Given the description of an element on the screen output the (x, y) to click on. 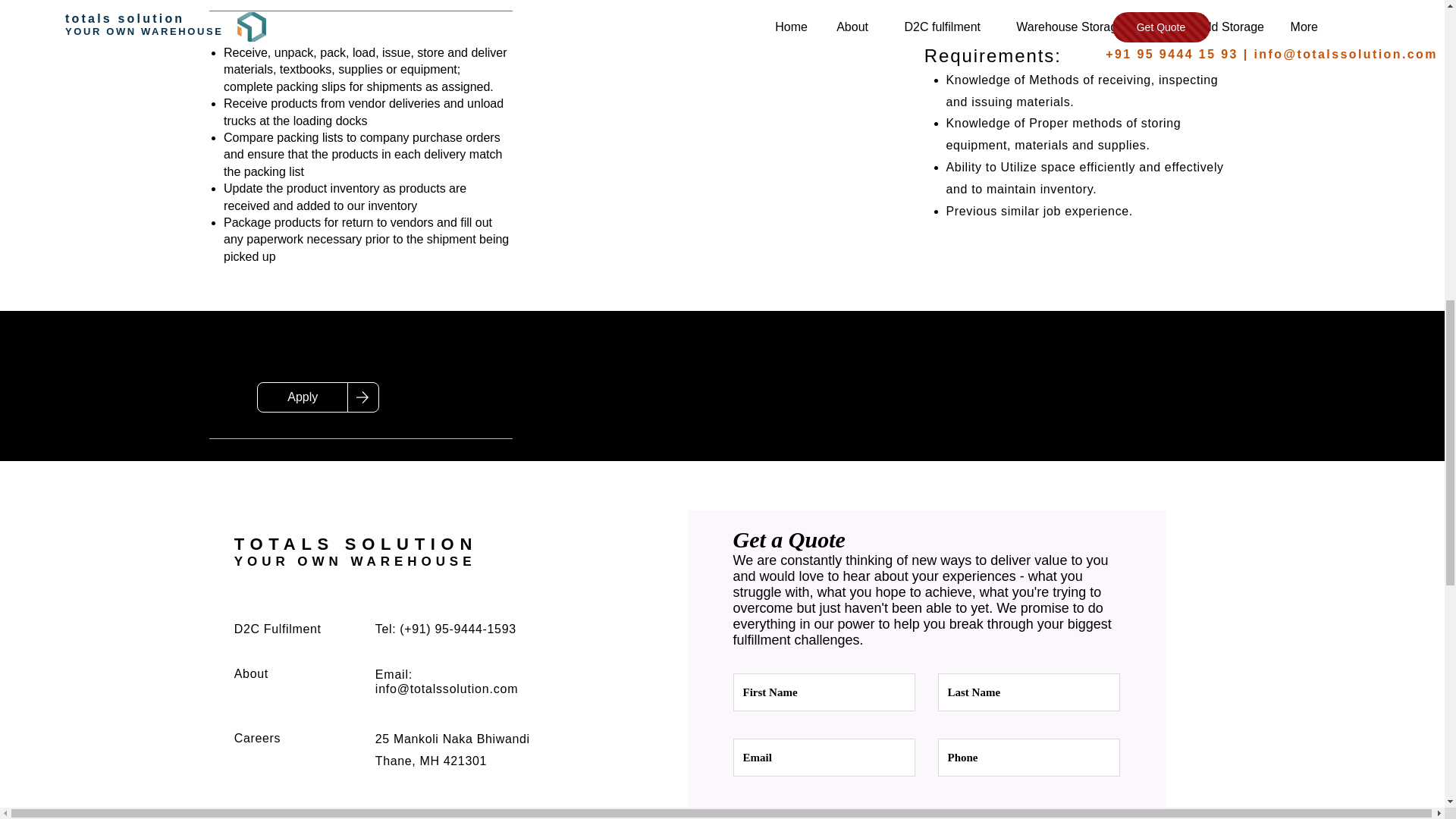
D2C Fulfilment (277, 628)
About (250, 673)
Apply (302, 397)
TOTALS SOLUTION (355, 543)
Careers (257, 738)
